Given the description of an element on the screen output the (x, y) to click on. 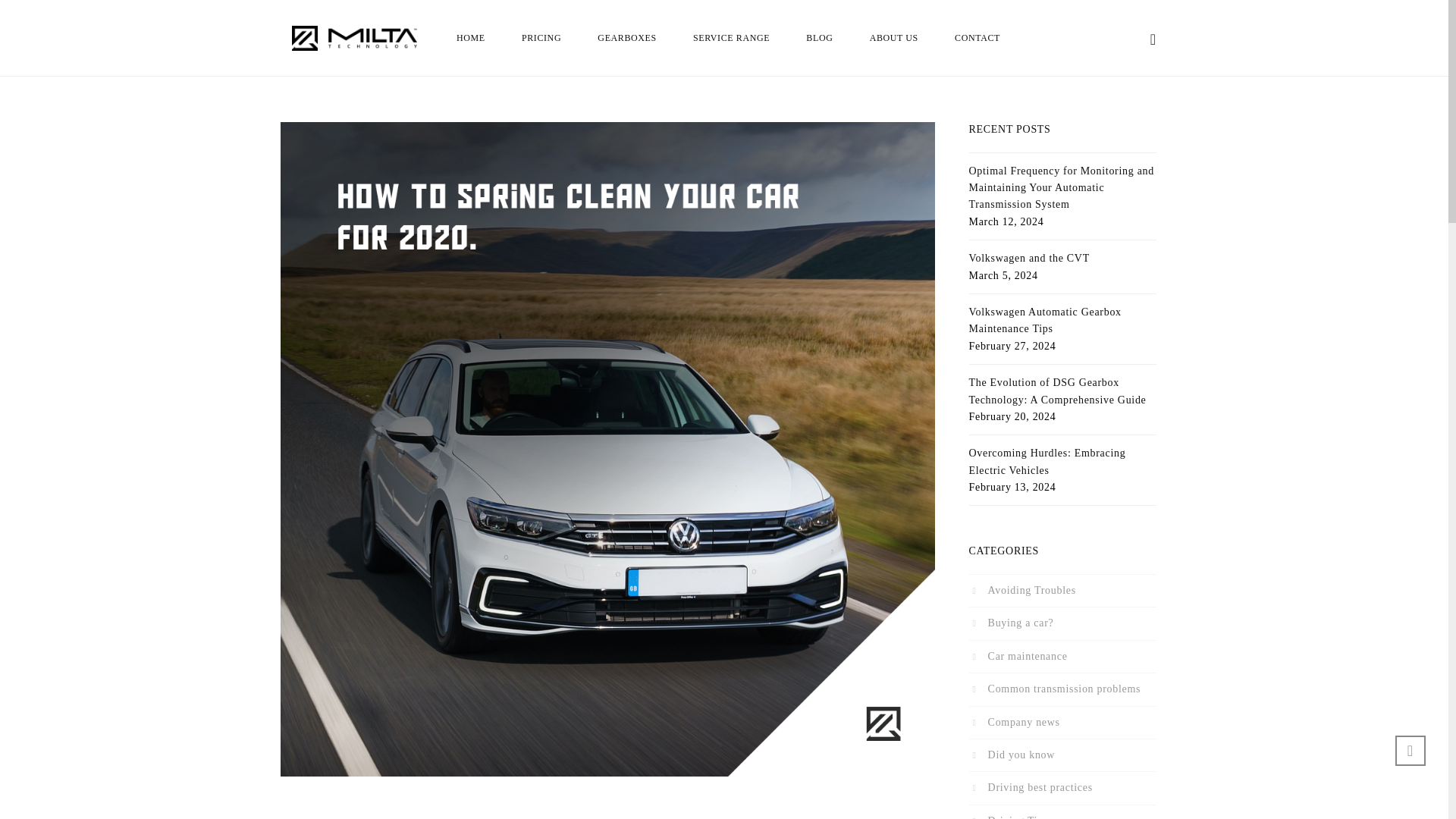
GEARBOXES (626, 38)
SERVICE RANGE (731, 38)
Go to top (1409, 750)
